Given the description of an element on the screen output the (x, y) to click on. 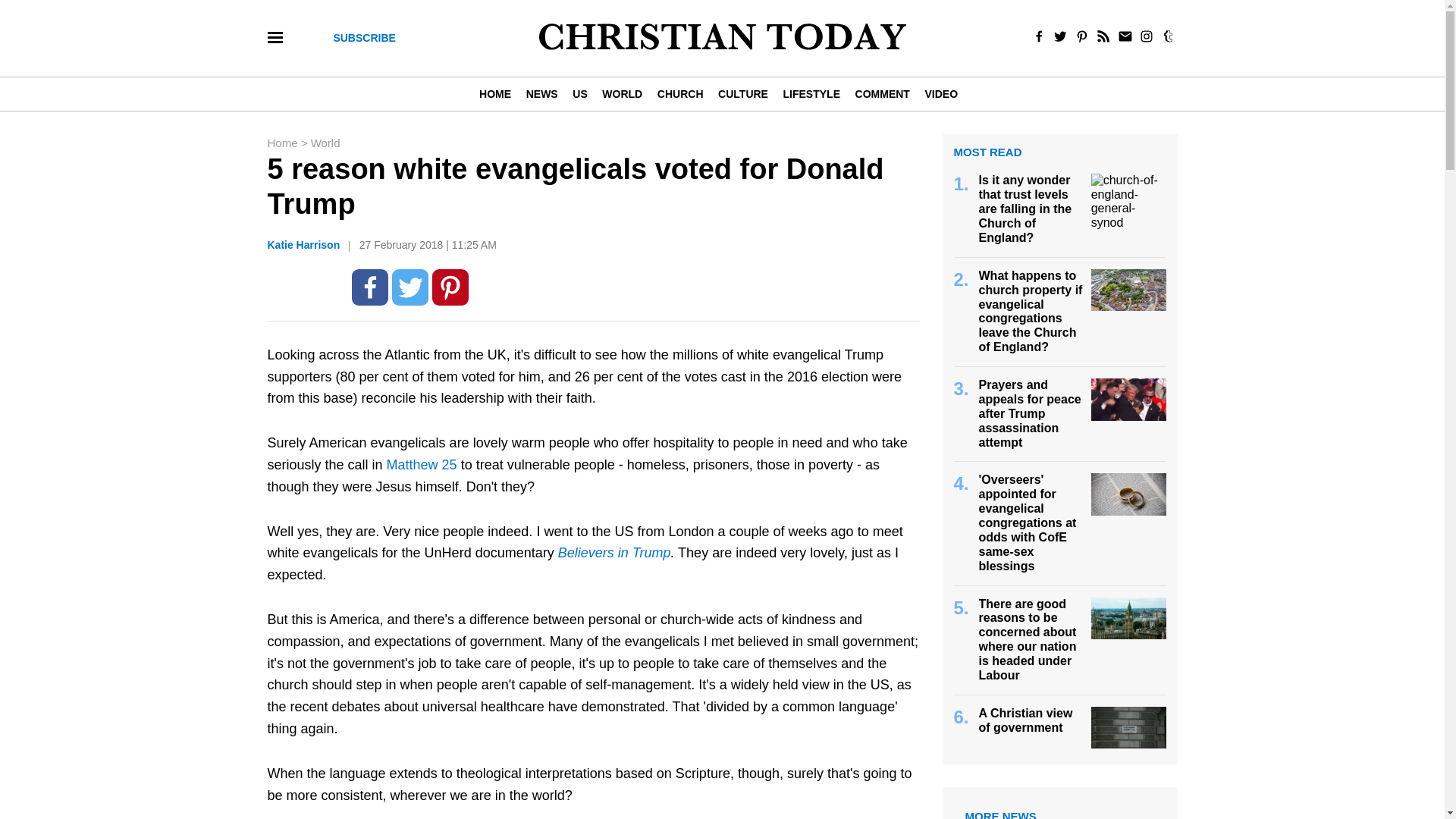
Home (282, 142)
NEWS (542, 93)
VIDEO (941, 93)
LIFESTYLE (811, 93)
WORLD (622, 93)
CHURCH (679, 93)
SUBSCRIBE (363, 37)
HOME (498, 93)
CULTURE (742, 93)
COMMENT (882, 93)
